Given the description of an element on the screen output the (x, y) to click on. 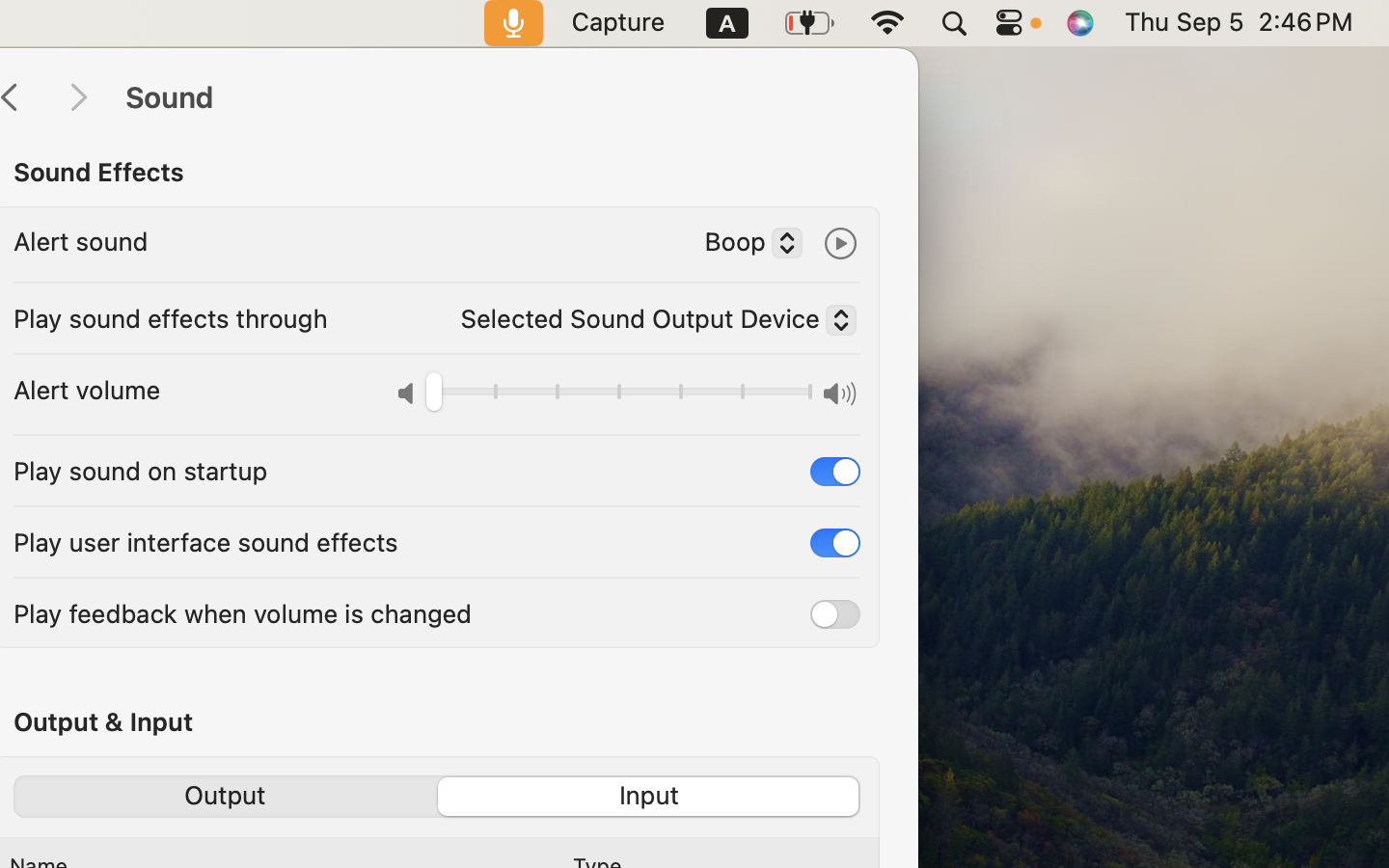
<AXUIElement 0x1320c8380> {pid=2664} Element type: AXTabGroup (436, 796)
Alert sound Element type: AXStaticText (80, 240)
Play sound on startup Element type: AXStaticText (140, 470)
Selected Sound Output Device Element type: AXPopUpButton (650, 322)
Play sound effects through Element type: AXStaticText (170, 317)
